Given the description of an element on the screen output the (x, y) to click on. 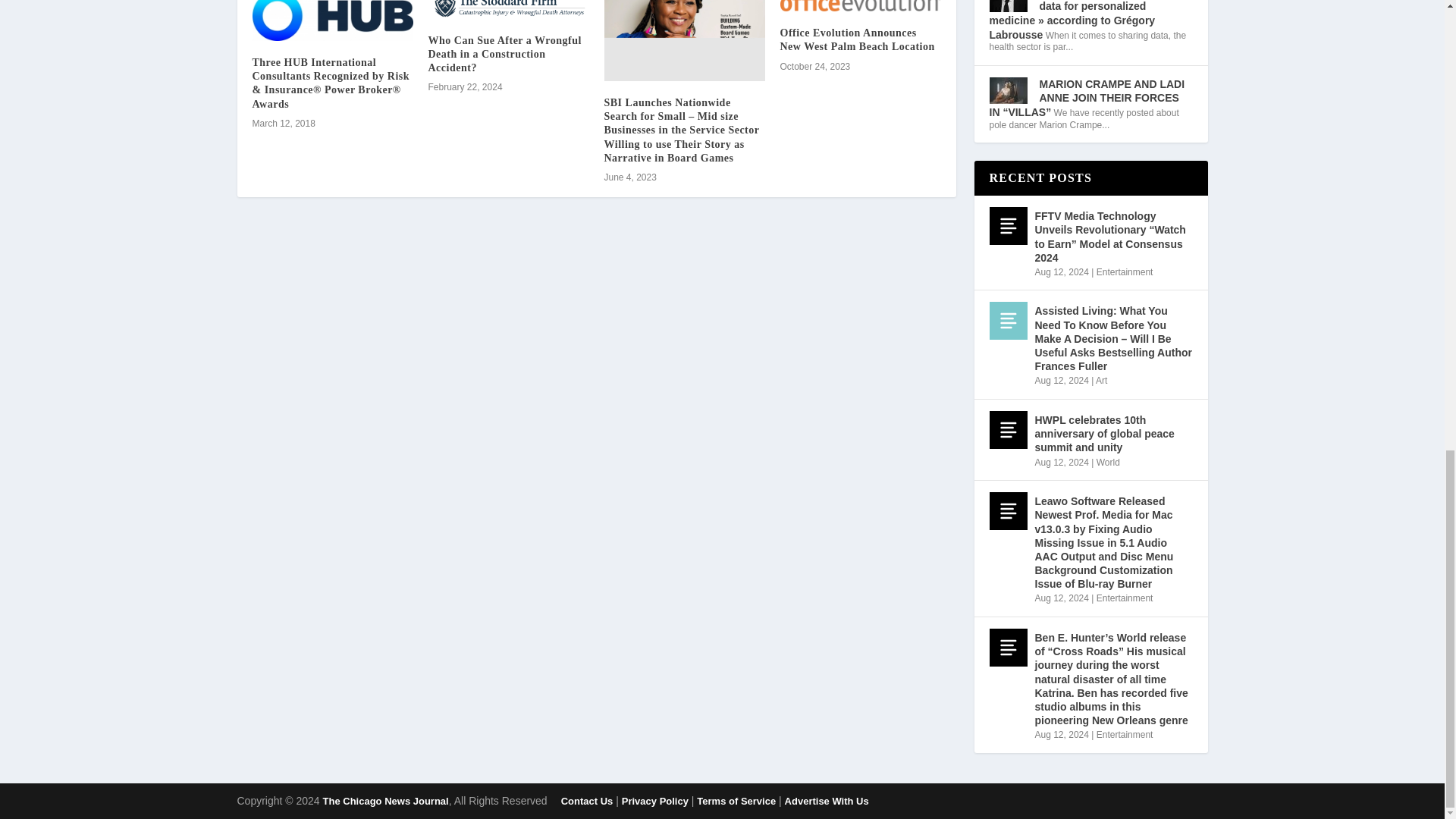
Office Evolution Announces New West Palm Beach Location (859, 5)
